Given the description of an element on the screen output the (x, y) to click on. 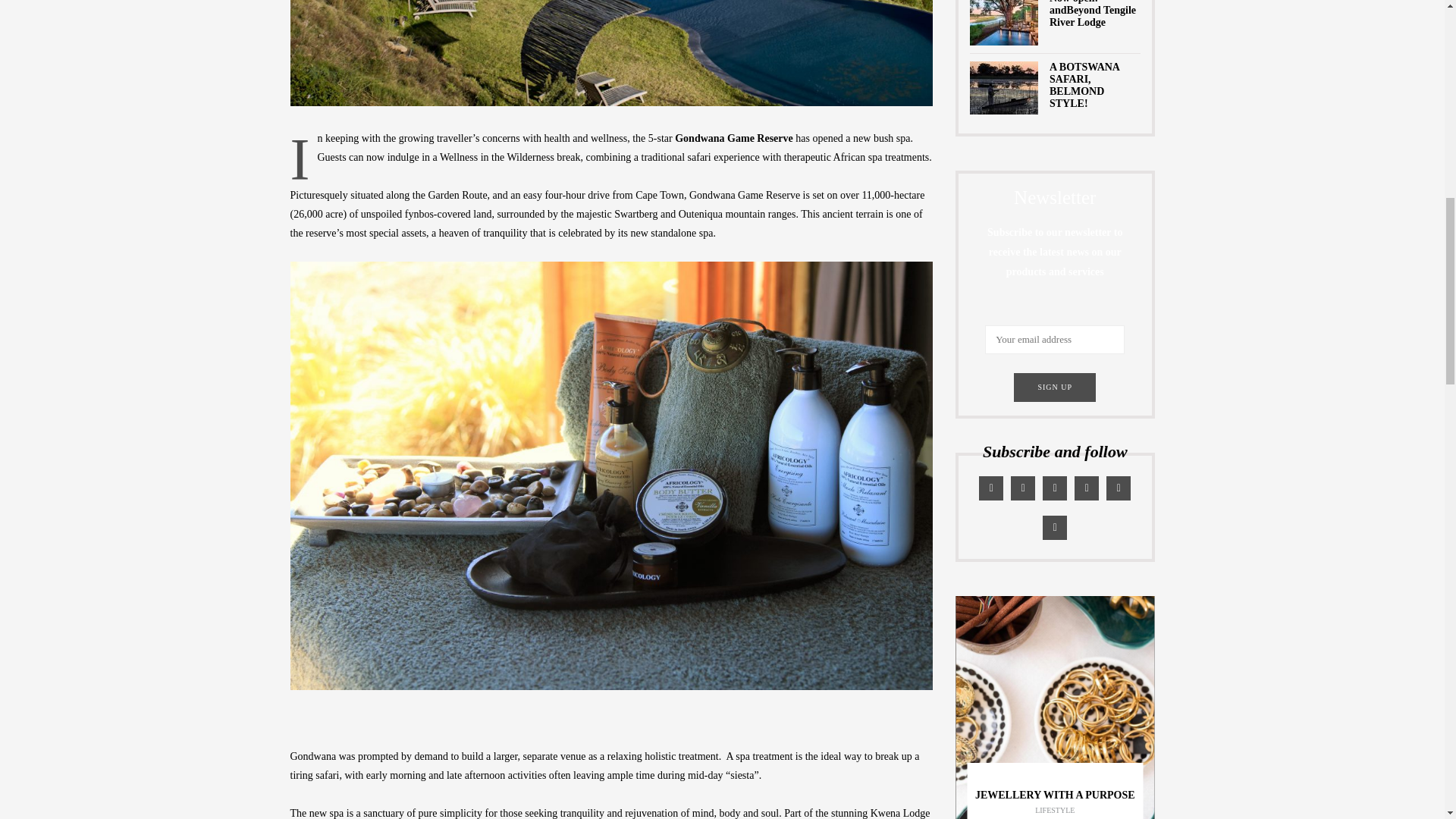
Sign up (1054, 387)
